Given the description of an element on the screen output the (x, y) to click on. 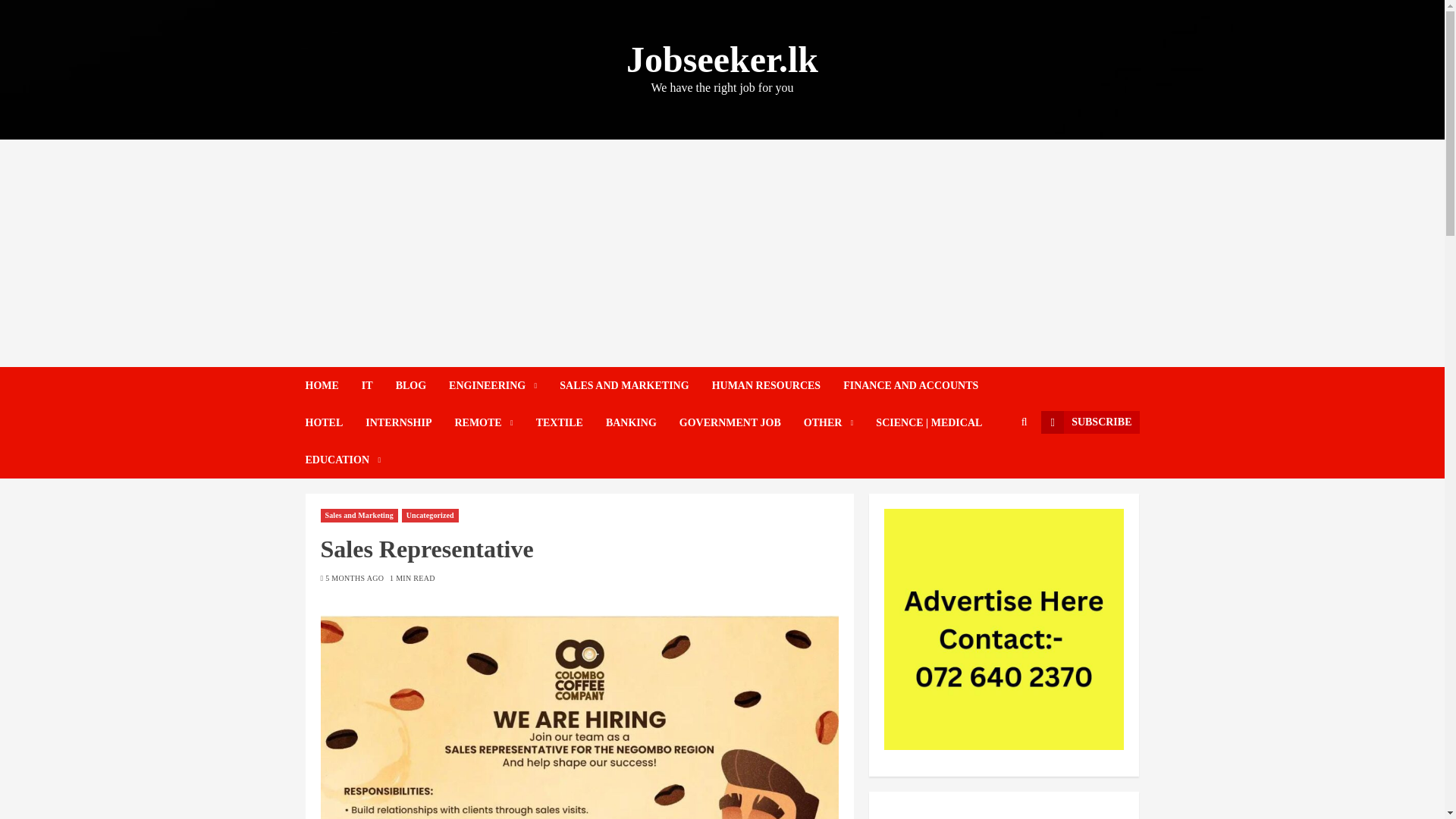
5 MONTHS AGO (354, 578)
EDUCATION (342, 459)
ENGINEERING (503, 385)
Sales and Marketing (358, 515)
BLOG (422, 385)
Search (994, 468)
INTERNSHIP (409, 422)
BANKING (642, 422)
SUBSCRIBE (1089, 422)
HOME (332, 385)
IT (378, 385)
REMOTE (494, 422)
Jobseeker.lk (722, 59)
SALES AND MARKETING (635, 385)
